Given the description of an element on the screen output the (x, y) to click on. 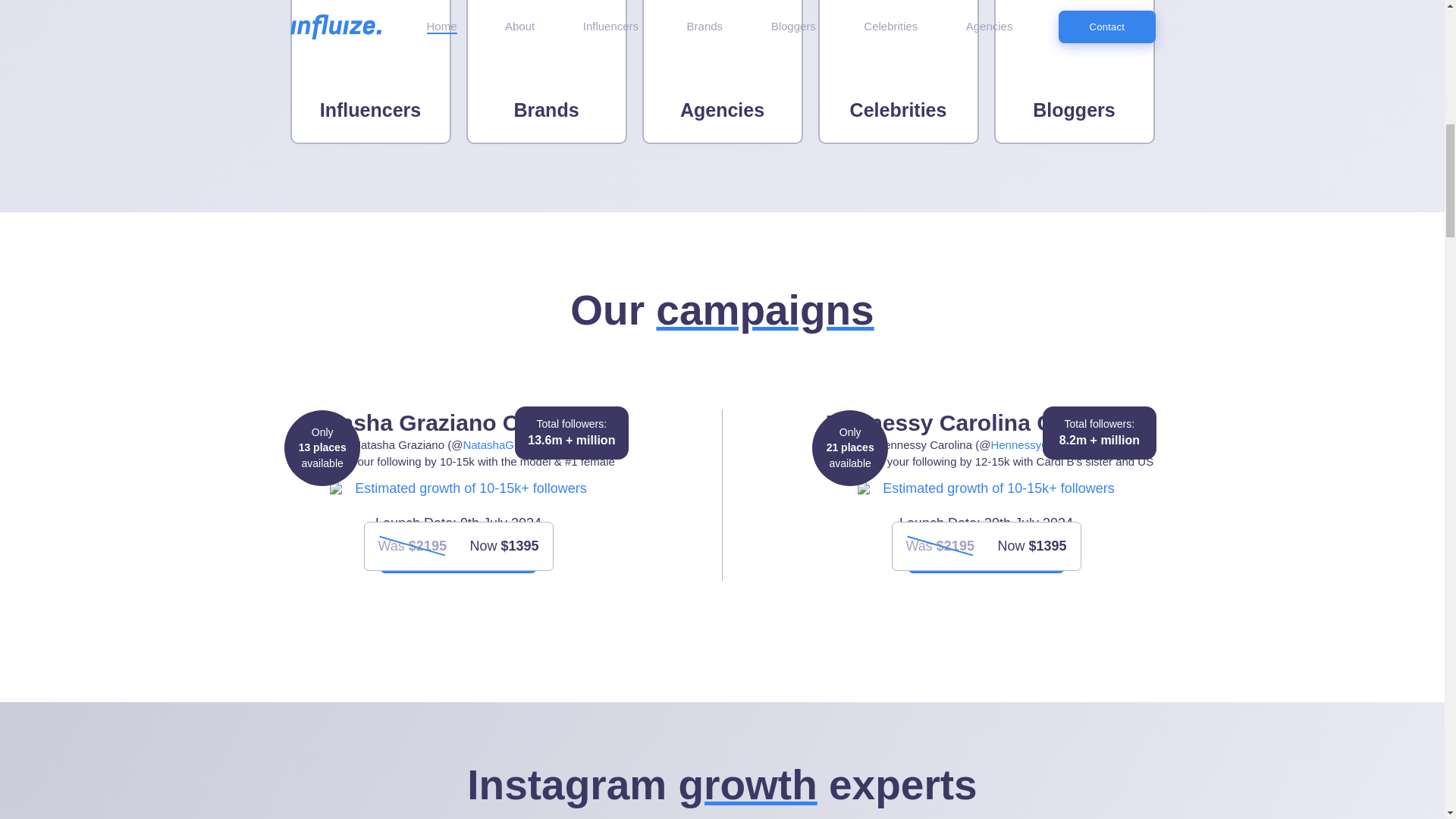
Celebrities (897, 72)
Hennessy Carolina (1036, 444)
Natasha Graziano Campaign (507, 444)
NatashaGraziano (507, 444)
Influencers (369, 72)
HennessyCarolina (1036, 444)
Book your place now (986, 556)
Agencies (722, 72)
Book your place now (458, 556)
Brands (545, 72)
